Given the description of an element on the screen output the (x, y) to click on. 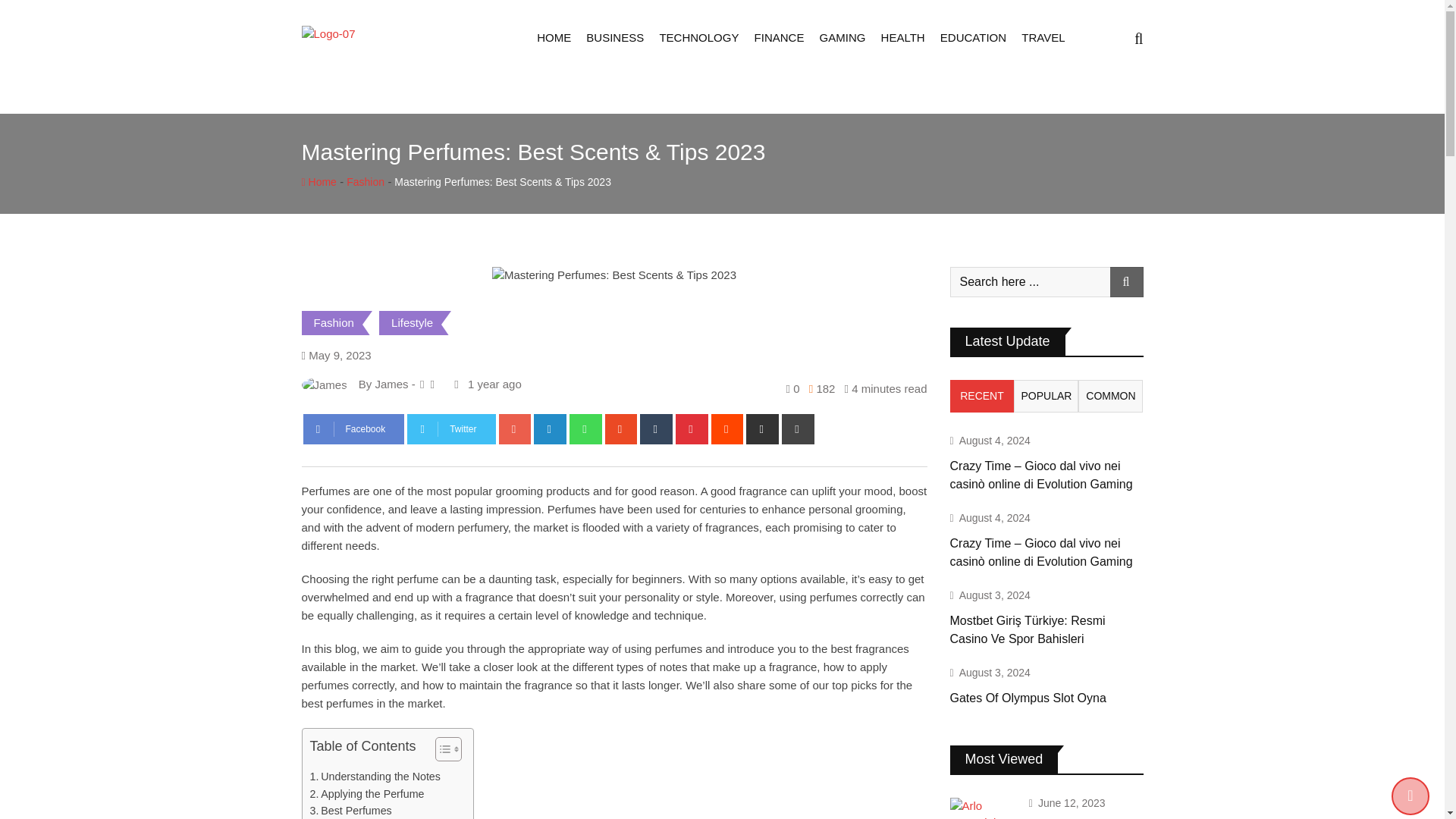
Best Perfumes (349, 810)
TECHNOLOGY (698, 38)
Applying the Perfume (365, 794)
BUSINESS (614, 38)
EDUCATION (972, 38)
How to Set Up Arlo Essential Spotlight Camera? (982, 808)
Understanding the Notes (373, 776)
